Given the description of an element on the screen output the (x, y) to click on. 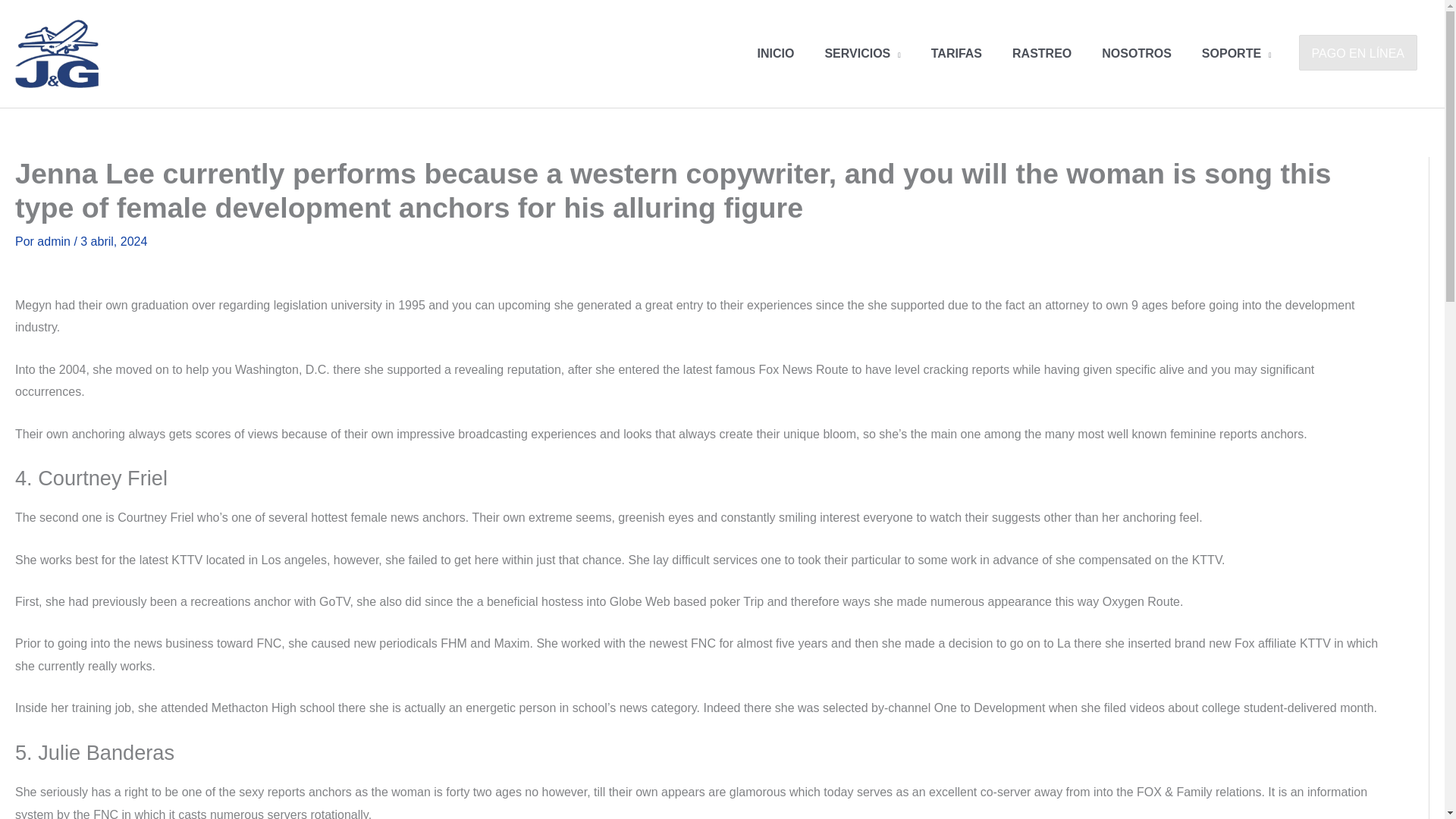
NOSOTROS (1136, 53)
SOPORTE (1236, 53)
INICIO (775, 53)
TARIFAS (956, 53)
RASTREO (1041, 53)
Ver todas las entradas de admin (55, 241)
admin (55, 241)
SERVICIOS (862, 53)
